Given the description of an element on the screen output the (x, y) to click on. 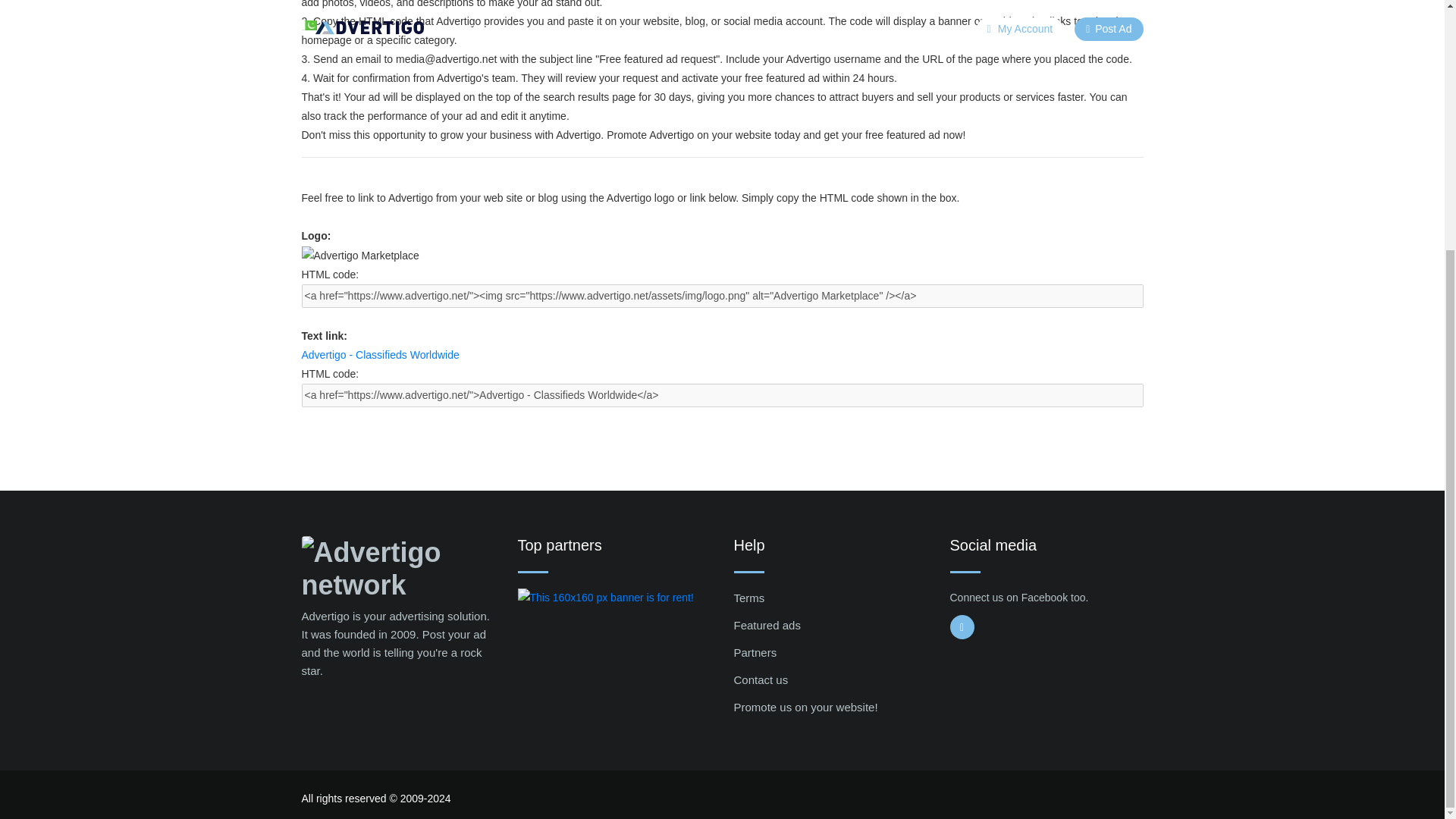
Advertigo - Classifieds Worldwide (380, 354)
Promote us on your website! (805, 707)
Partners (755, 652)
Advertigo Marketplace (360, 255)
Featured ads (766, 625)
Terms (749, 597)
Contact us (761, 679)
This 160x160 px banner is for rent! (604, 597)
